Given the description of an element on the screen output the (x, y) to click on. 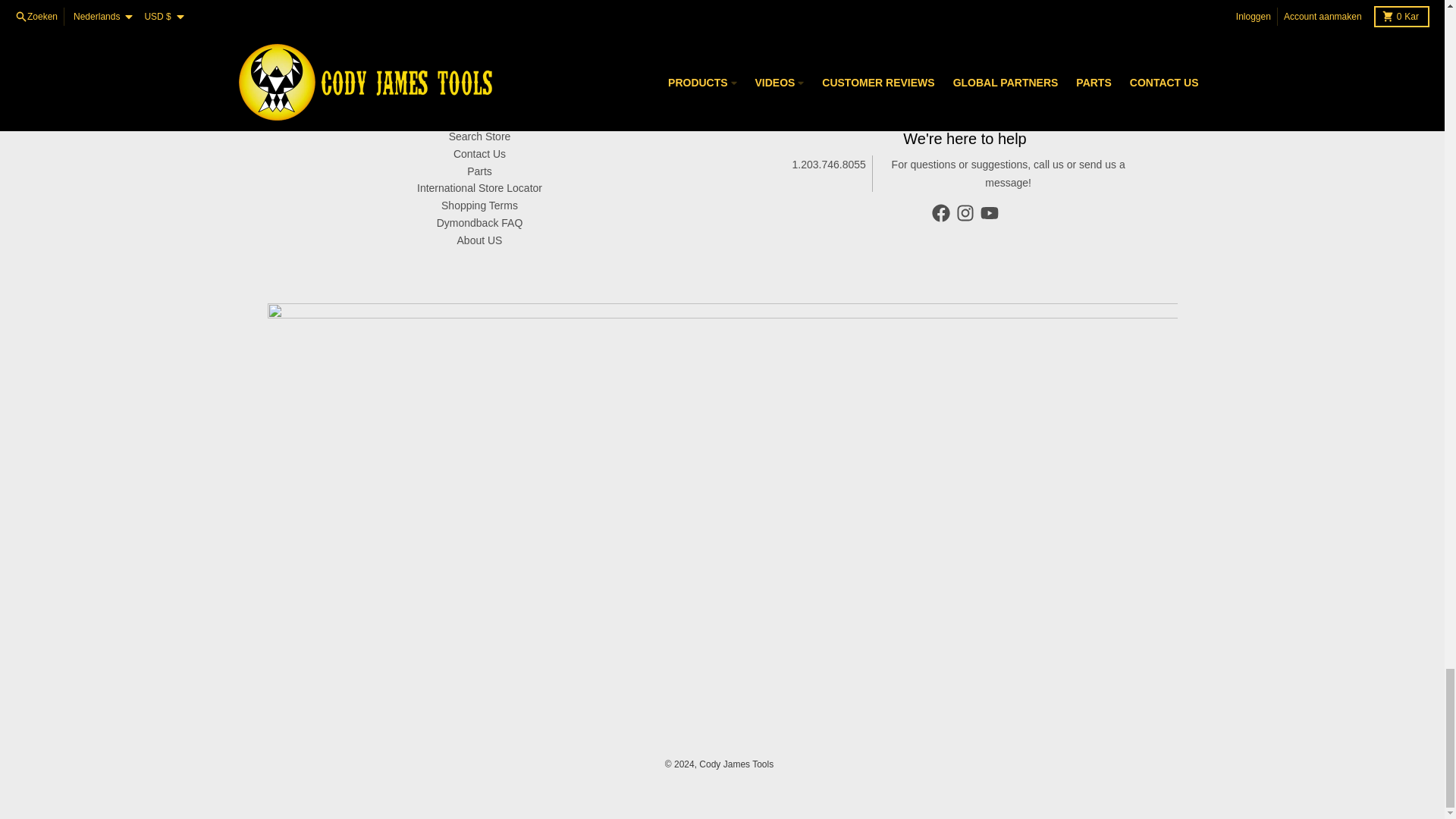
Instagram - Cody James Tools (964, 212)
YouTube - Cody James Tools (988, 212)
Facebook - Cody James Tools (940, 212)
